Given the description of an element on the screen output the (x, y) to click on. 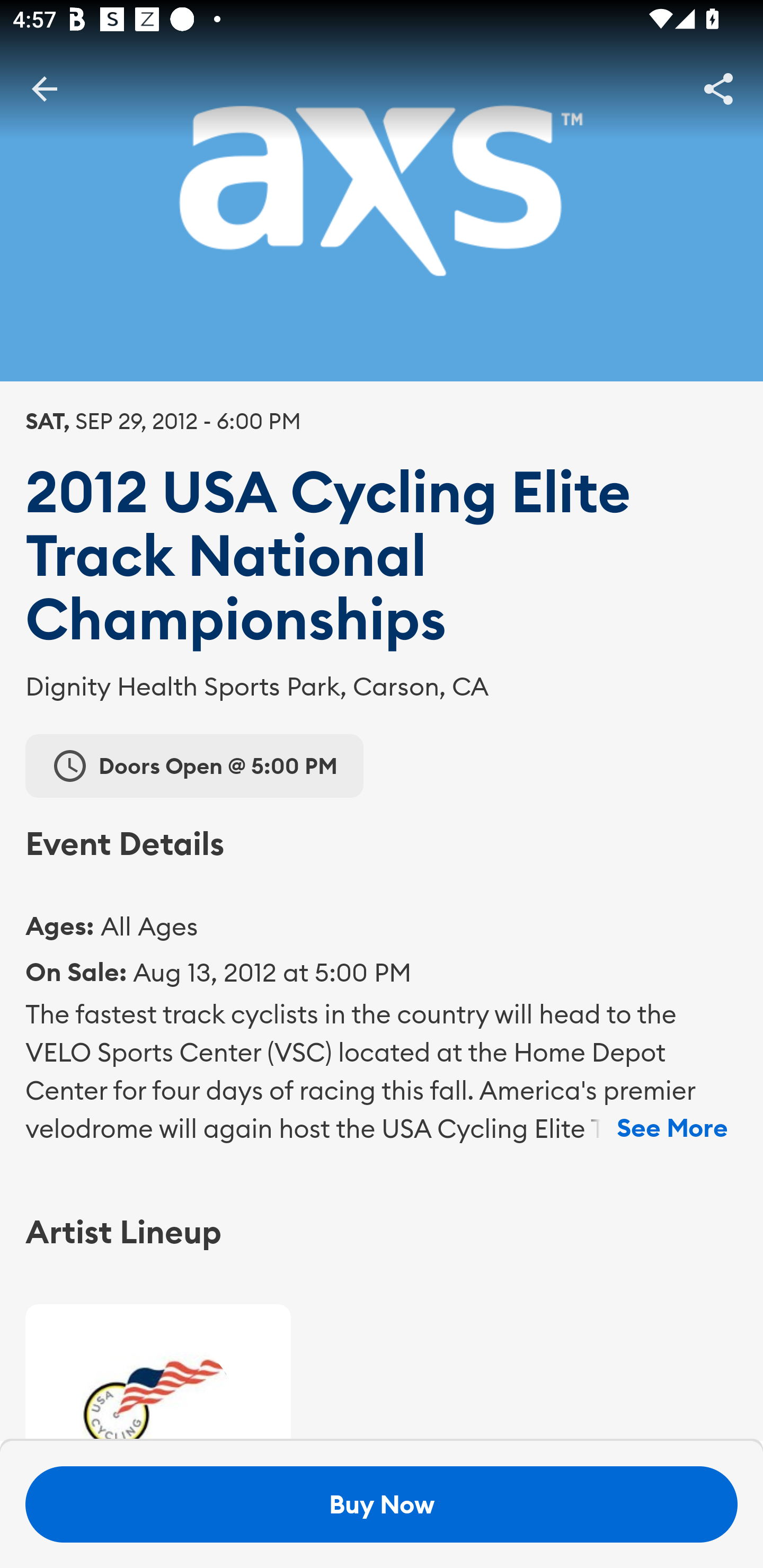
BackButton (44, 88)
Share (718, 88)
See More (671, 1127)
Buy Now (381, 1504)
